Given the description of an element on the screen output the (x, y) to click on. 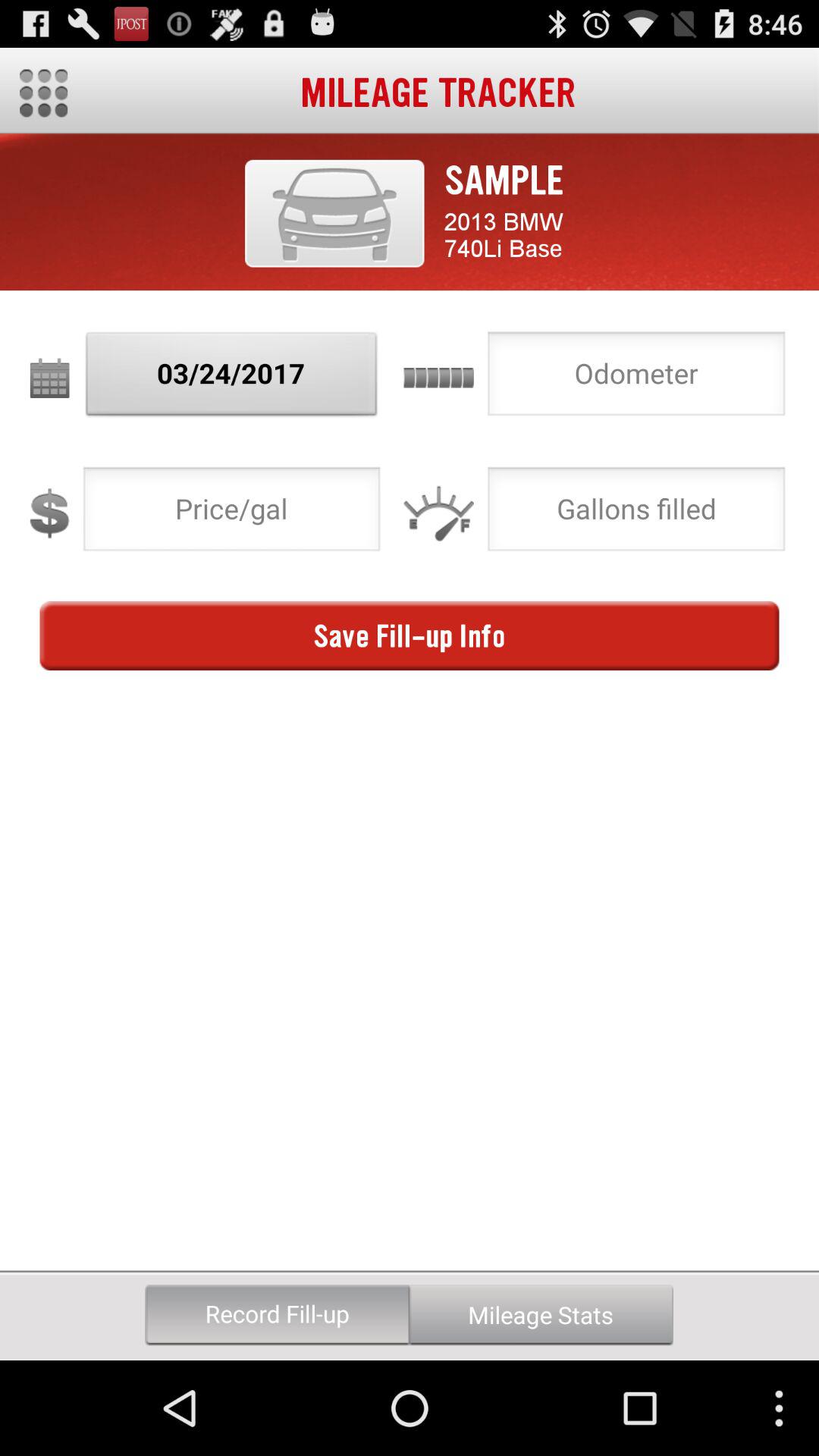
odometer (636, 377)
